Given the description of an element on the screen output the (x, y) to click on. 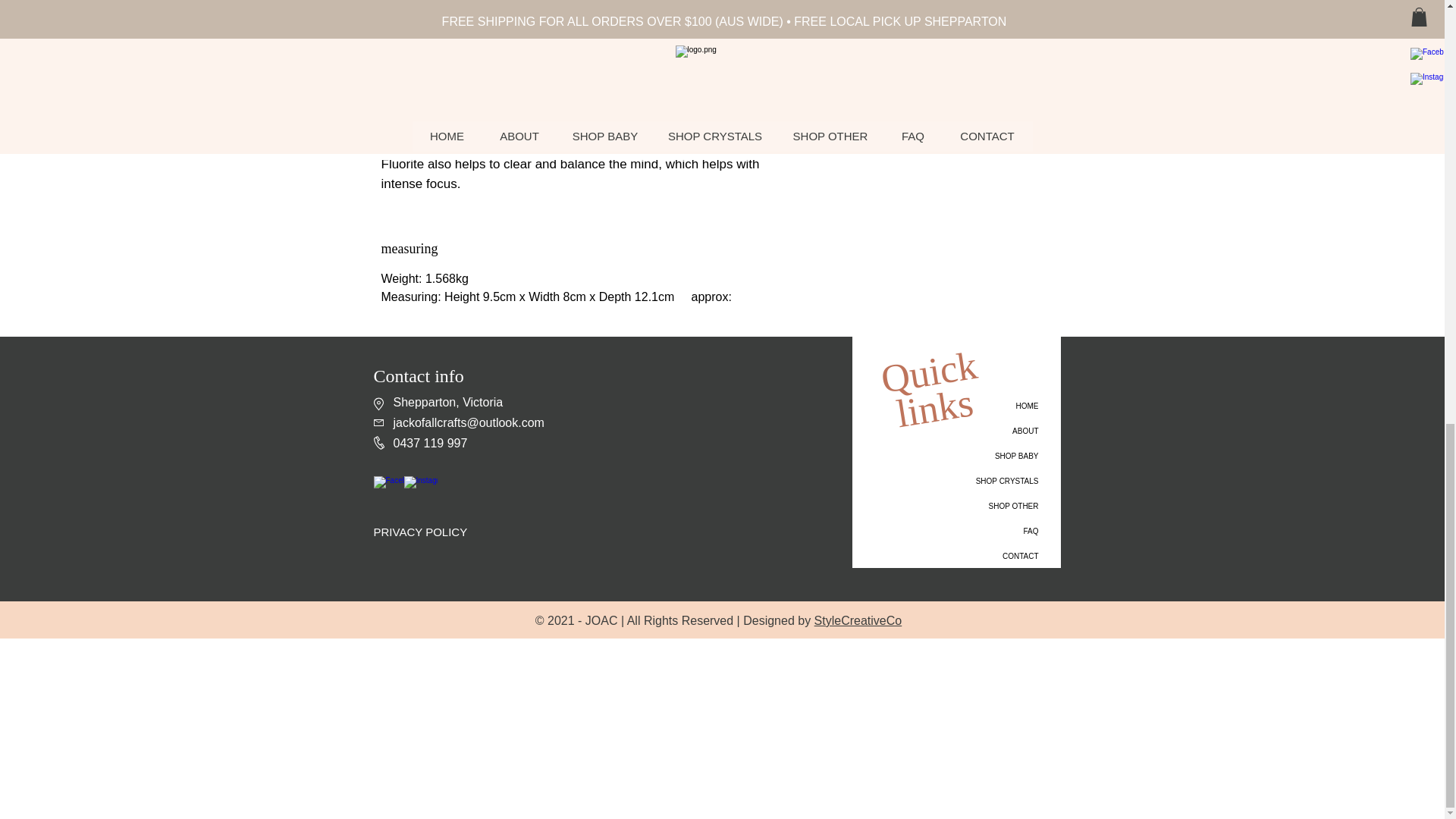
Shepparton, Victoria (447, 401)
1 (891, 9)
Add to Cart (959, 58)
